Given the description of an element on the screen output the (x, y) to click on. 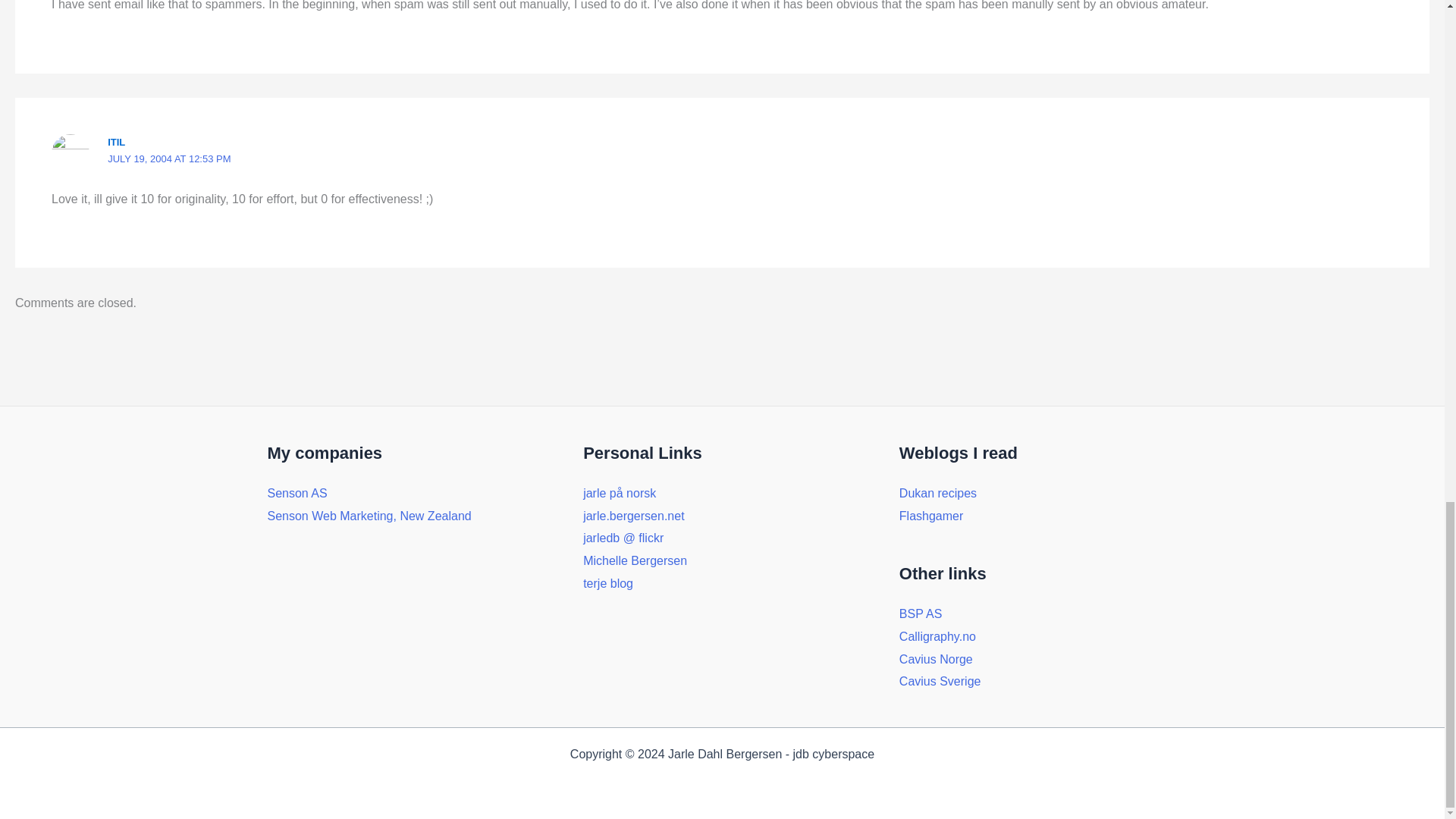
Calligraphy.no (937, 635)
Flashgamer (930, 515)
Senson AS (296, 492)
BSP AS (920, 613)
Senson Web Marketing, New Zealand (368, 515)
my brothers weblog (608, 583)
Michelle Bergersen (635, 560)
my info, cv etc. (633, 515)
my norwegian weblog. (619, 492)
my collection of digital photos taken all over the world (623, 537)
Senson Web Marketing, New Zealand (368, 515)
Michelle Bergersen (635, 560)
Senson AS (296, 492)
jarle.bergersen.net (633, 515)
JULY 19, 2004 AT 12:53 PM (168, 158)
